Given the description of an element on the screen output the (x, y) to click on. 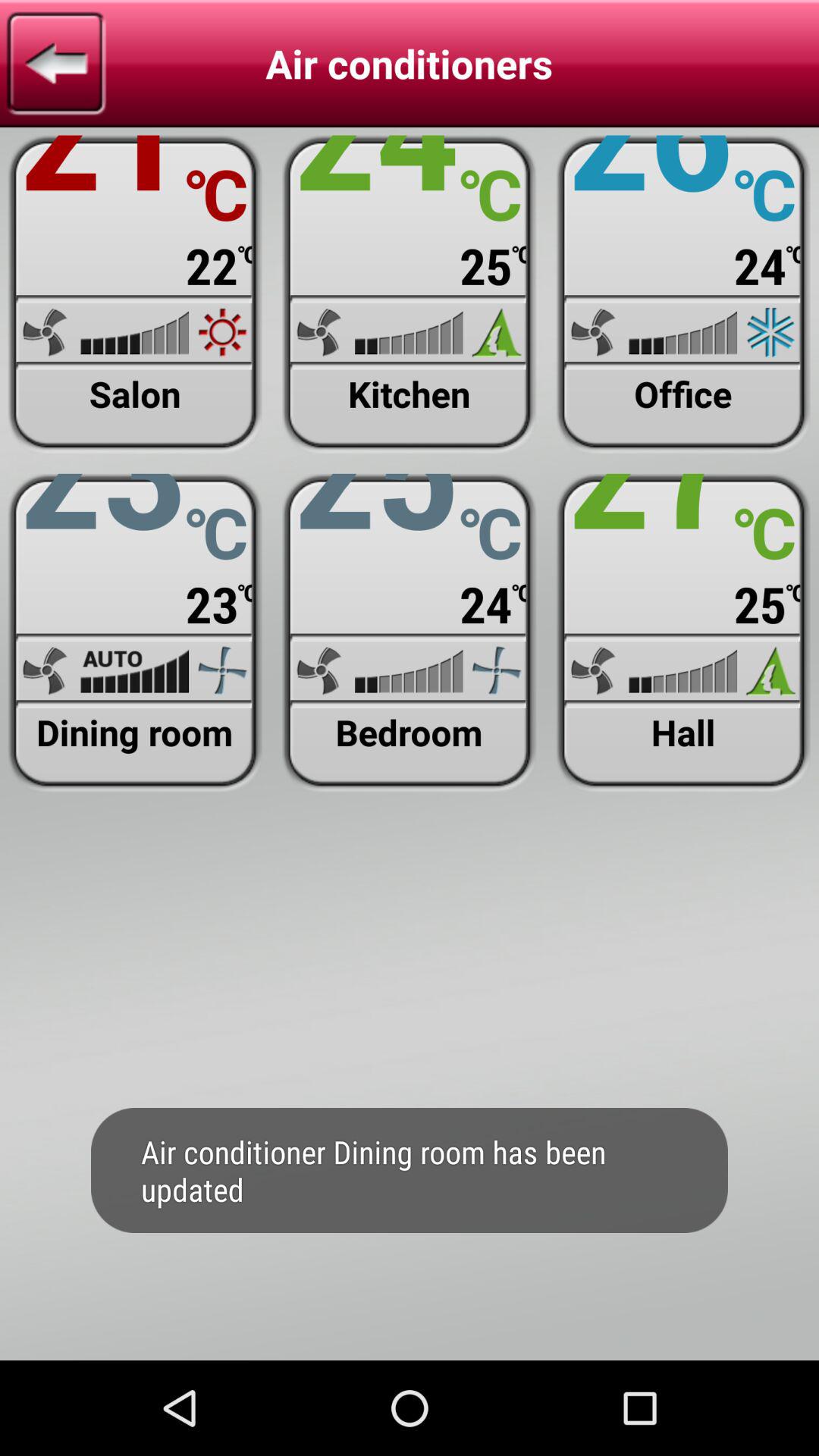
back button (55, 63)
